Given the description of an element on the screen output the (x, y) to click on. 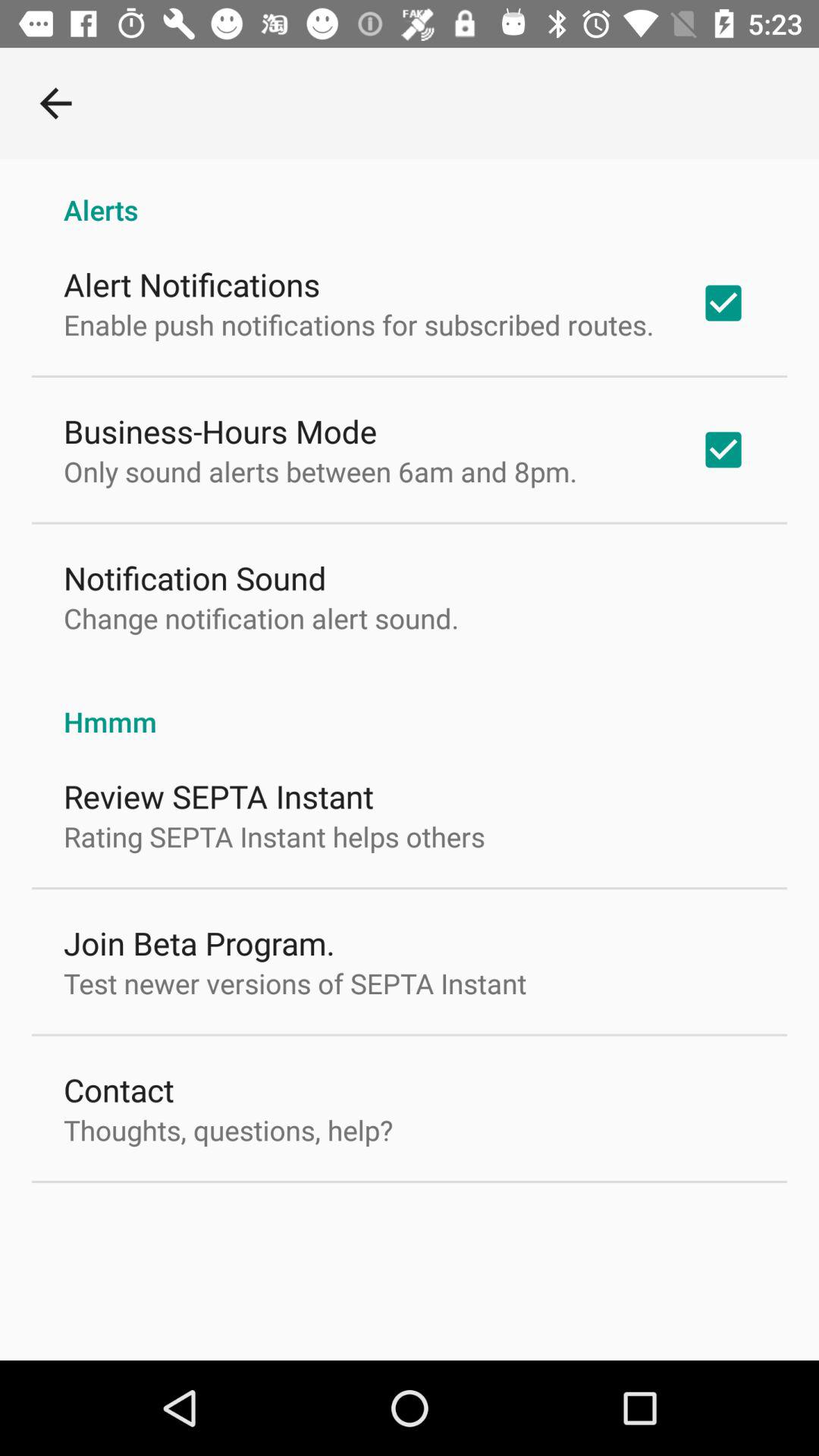
scroll to the hmmm (409, 705)
